Given the description of an element on the screen output the (x, y) to click on. 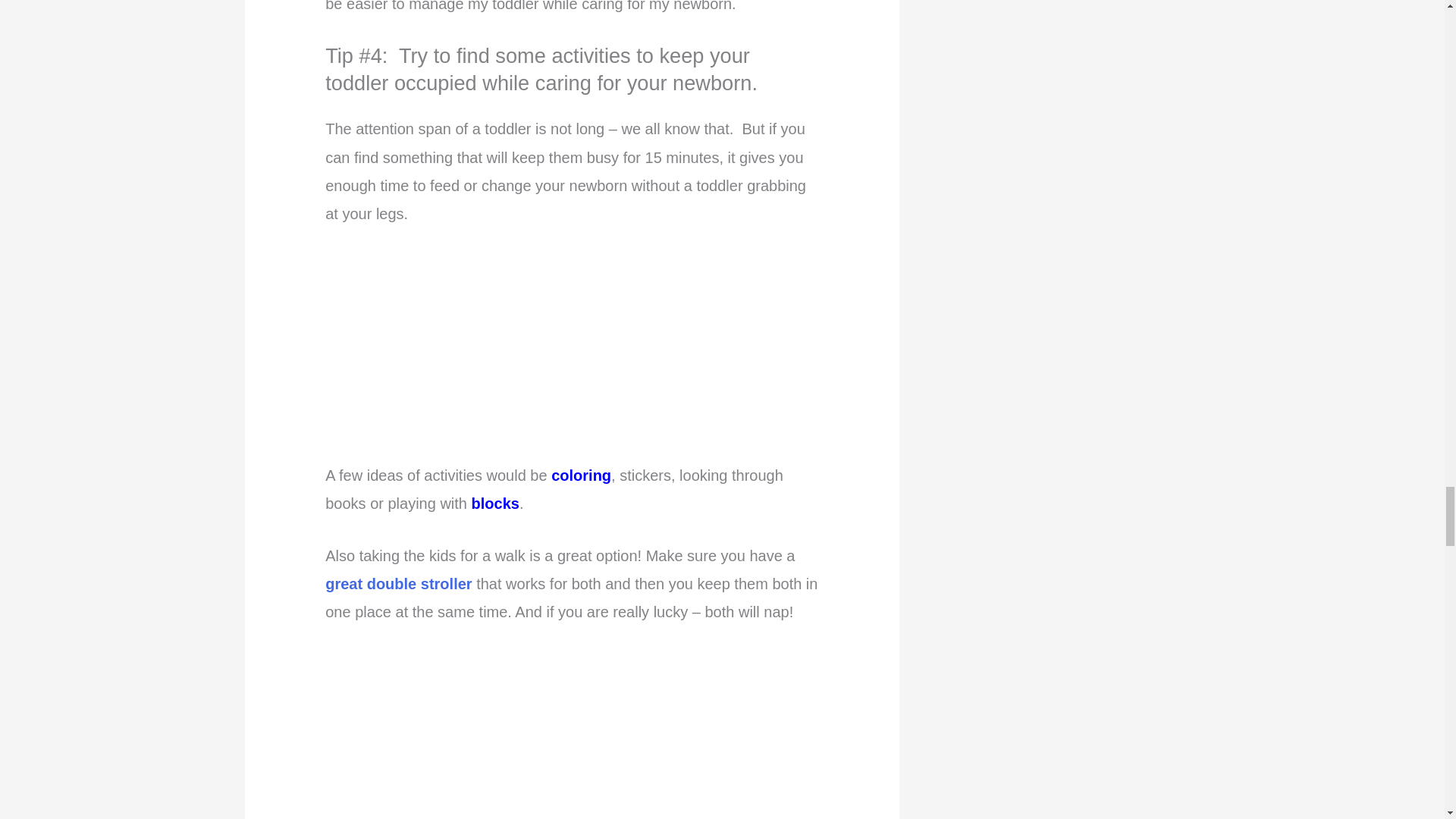
coloring (581, 475)
great double stroller (397, 583)
blocks (495, 503)
